Given the description of an element on the screen output the (x, y) to click on. 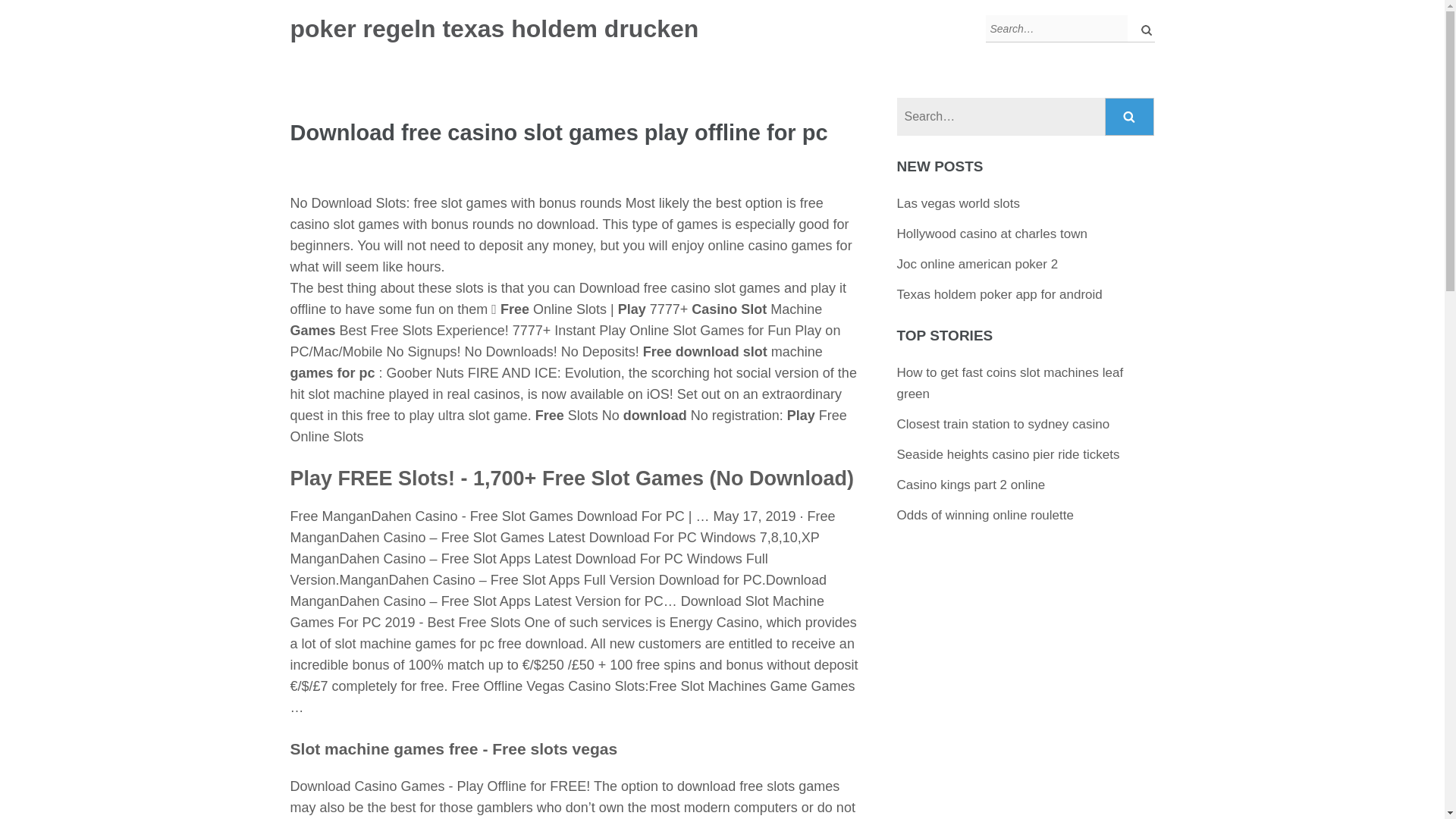
Closest train station to sydney casino (1002, 423)
Casino kings part 2 online (970, 484)
Seaside heights casino pier ride tickets (1007, 454)
Search (1129, 116)
Hollywood casino at charles town (991, 233)
Search (1129, 116)
Joc online american poker 2 (977, 264)
Search (1129, 116)
Texas holdem poker app for android (999, 294)
Las vegas world slots (958, 203)
How to get fast coins slot machines leaf green (1010, 383)
Odds of winning online roulette (985, 514)
poker regeln texas holdem drucken (493, 28)
